Given the description of an element on the screen output the (x, y) to click on. 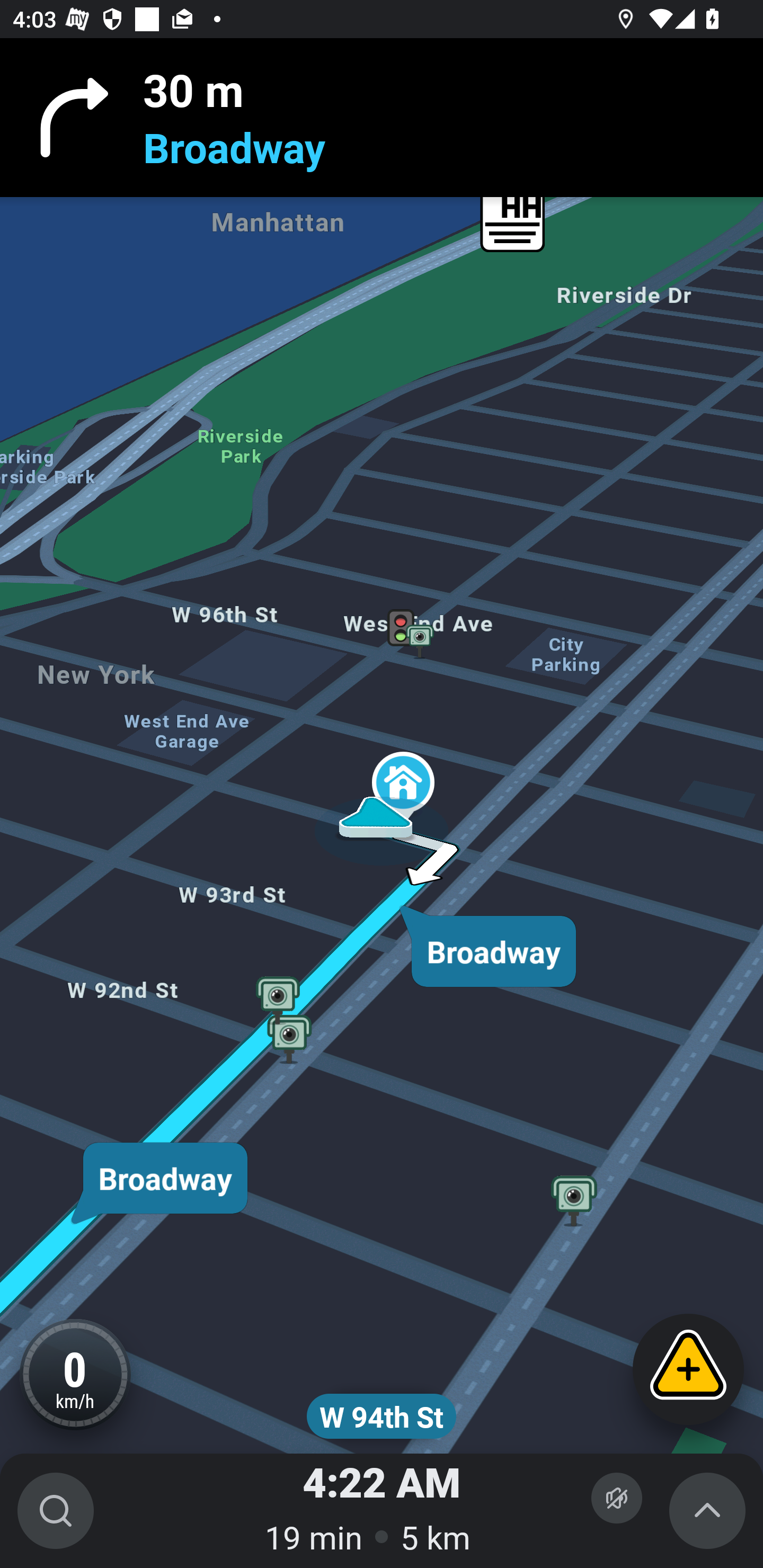
30 m Broadway (381, 117)
4:22 AM 19 min 5 km (381, 1510)
